Given the description of an element on the screen output the (x, y) to click on. 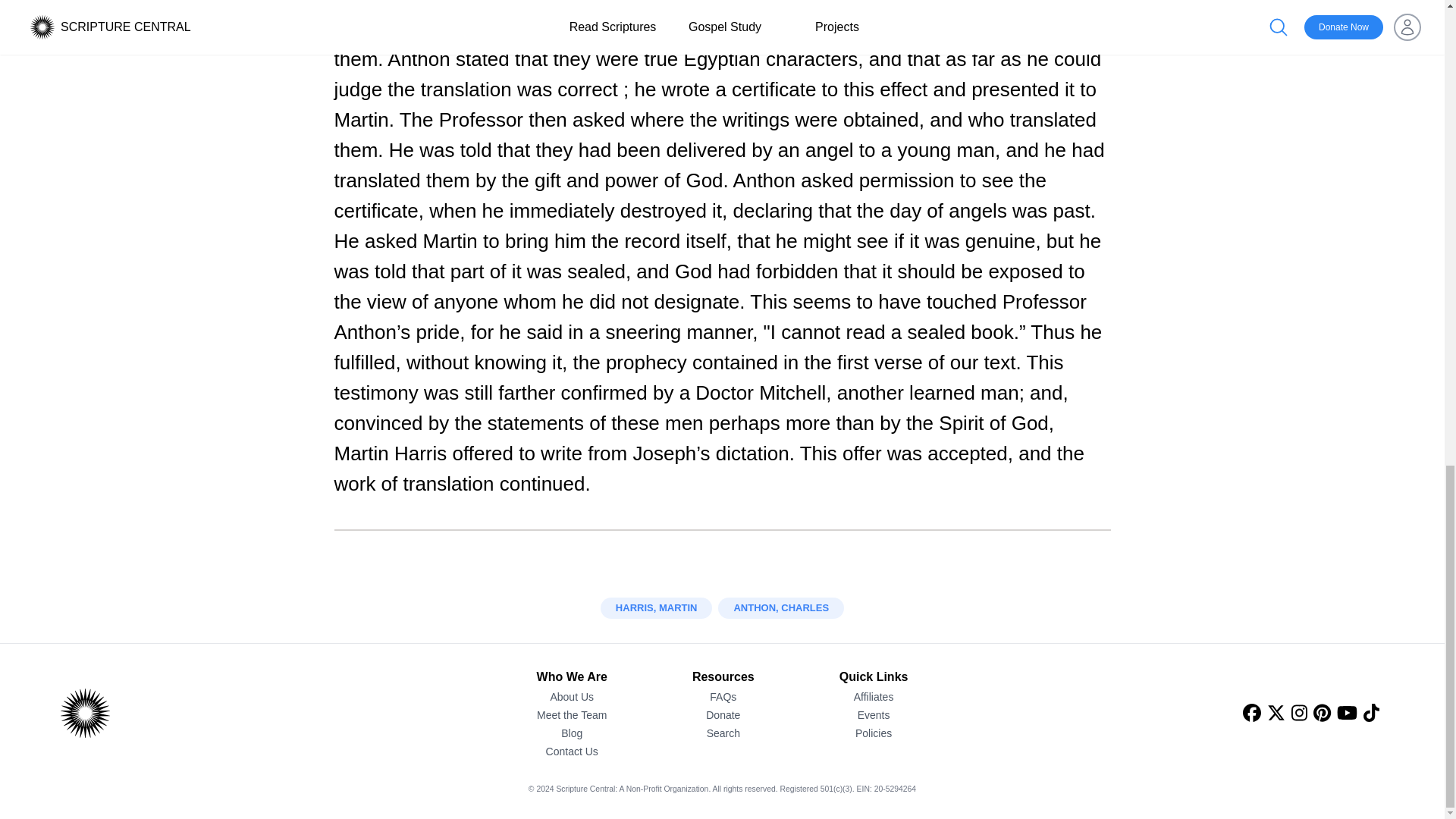
Blog (571, 733)
About Us (572, 696)
Policies (873, 733)
Donate (722, 714)
Events (873, 714)
FAQs (723, 696)
Meet the Team (572, 714)
Contact Us (572, 751)
Search (722, 733)
Affiliates (873, 696)
